Given the description of an element on the screen output the (x, y) to click on. 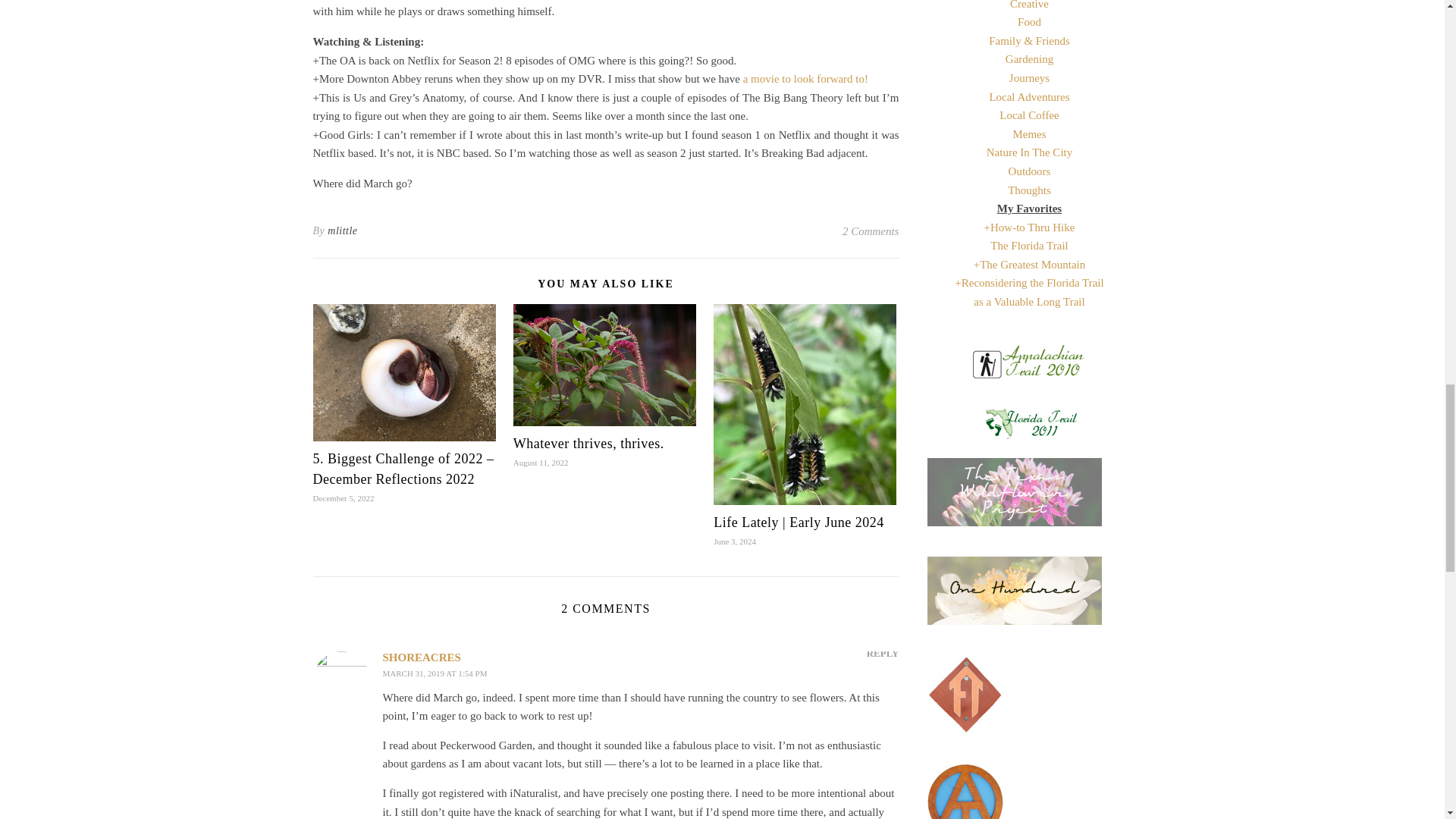
Posts by mlittle (341, 231)
mlittle (341, 231)
Whatever thrives, thrives. (588, 443)
MARCH 31, 2019 AT 1:54 PM (433, 673)
REPLY (882, 652)
SHOREACRES (420, 657)
a movie to look forward to! (804, 78)
2 Comments (871, 231)
